Given the description of an element on the screen output the (x, y) to click on. 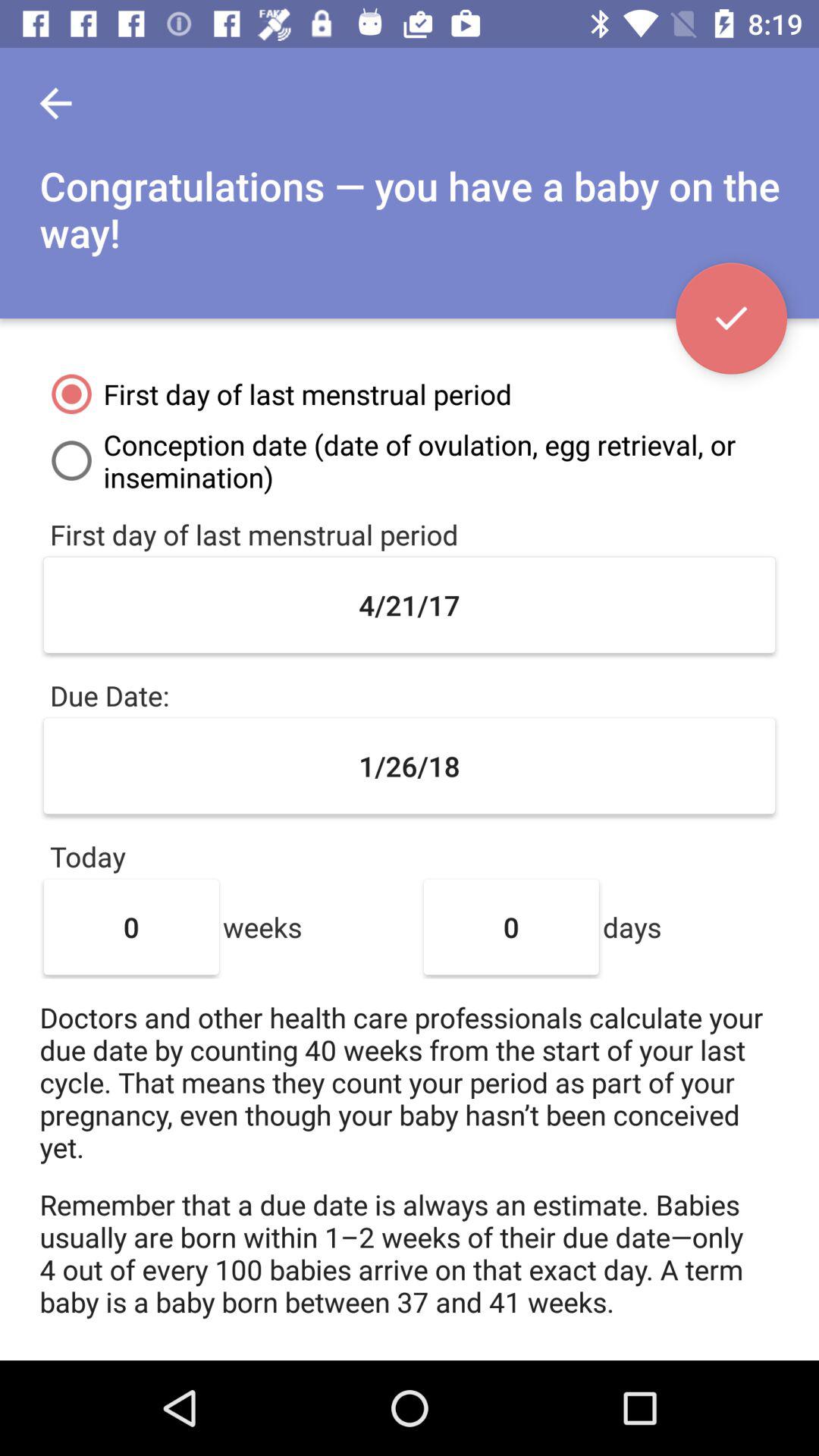
apply submit (731, 318)
